Given the description of an element on the screen output the (x, y) to click on. 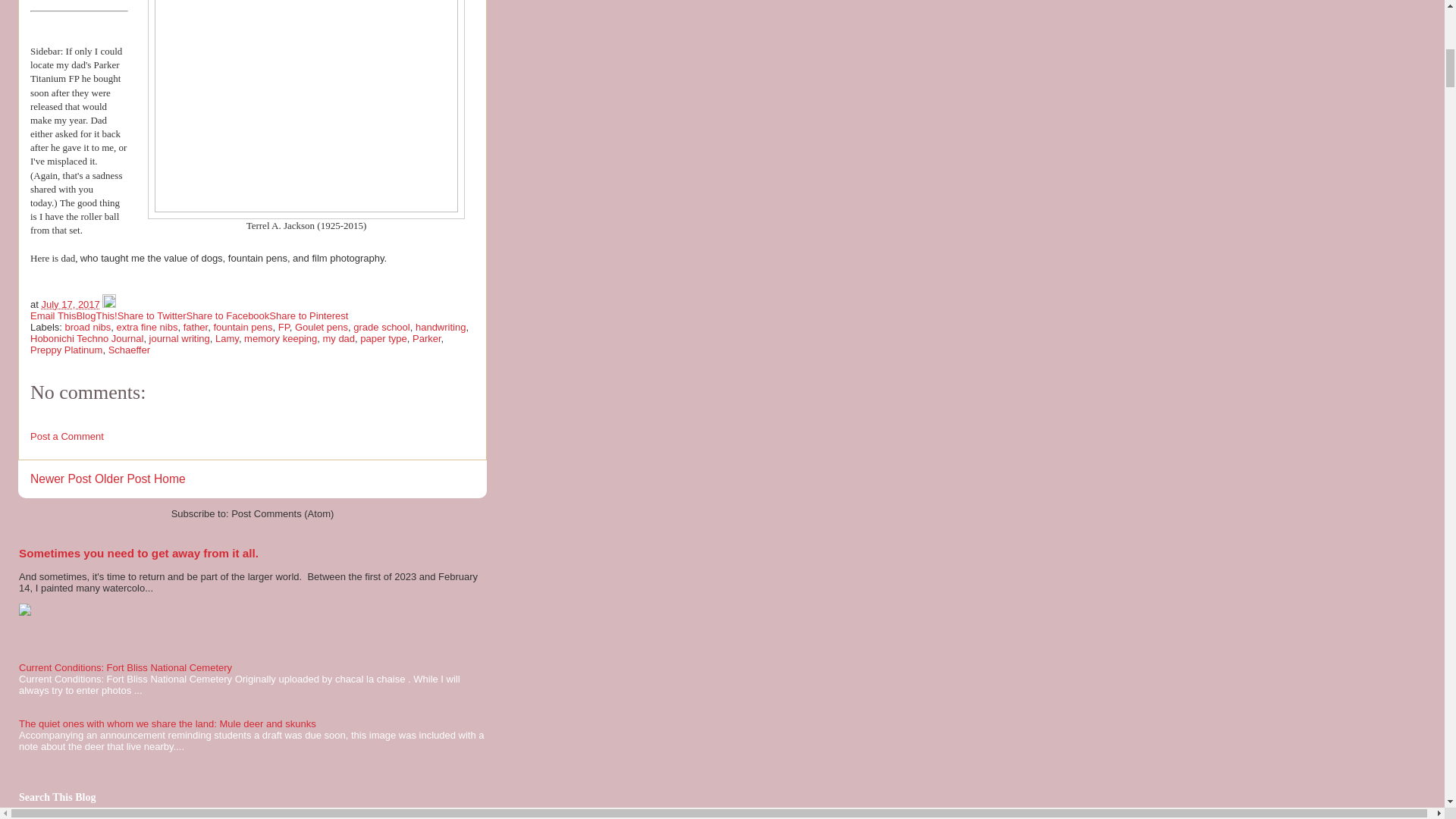
journal writing (179, 337)
Email This (52, 315)
my dad (338, 337)
Edit Post (108, 304)
Share to Facebook (227, 315)
Parker (426, 337)
handwriting (439, 326)
father (195, 326)
Older Post (122, 478)
search (55, 816)
Search (114, 816)
paper type (382, 337)
BlogThis! (95, 315)
Share to Facebook (227, 315)
July 17, 2017 (69, 304)
